Given the description of an element on the screen output the (x, y) to click on. 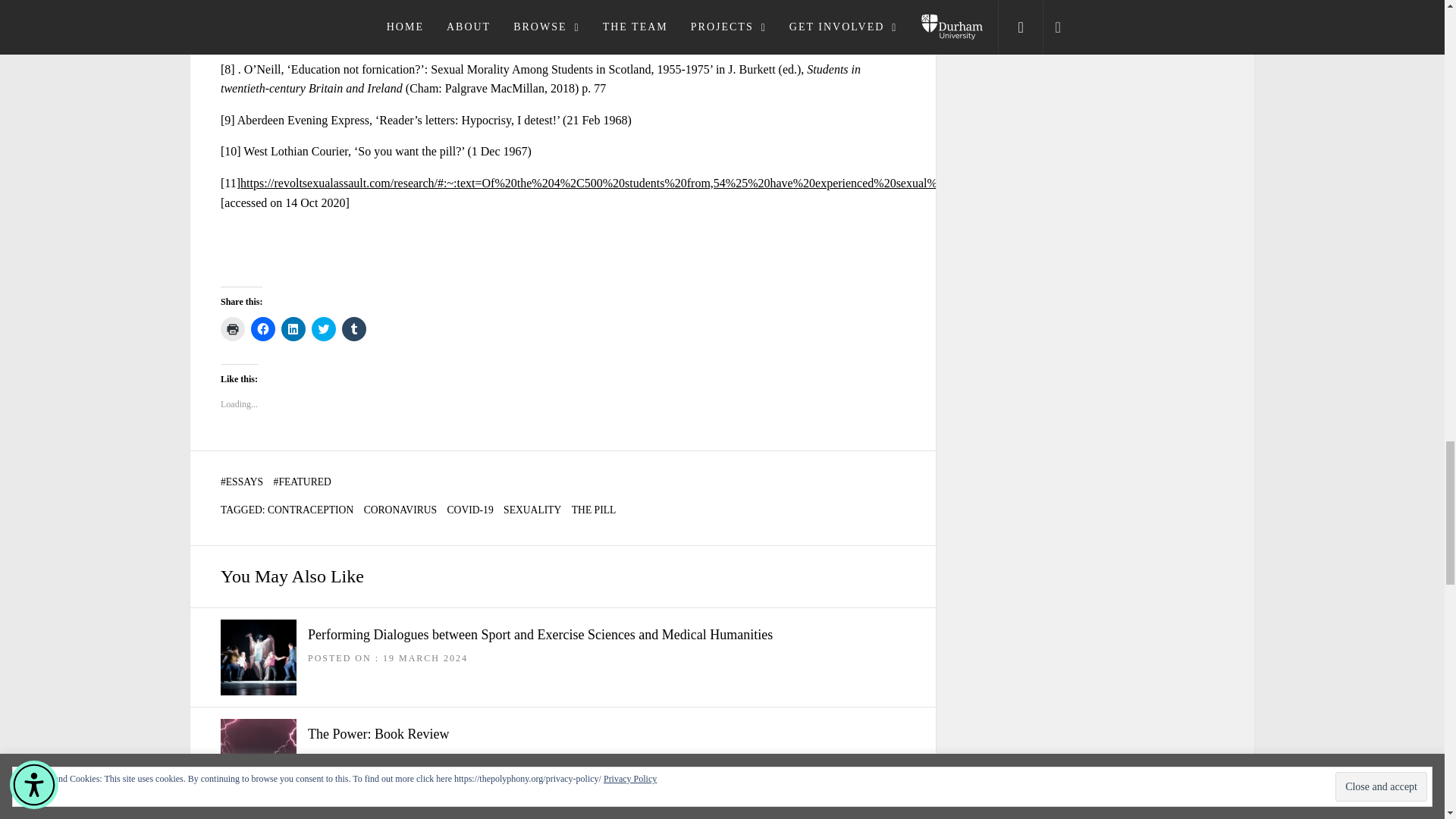
Click to share on Twitter (323, 328)
Click to print (232, 328)
Click to share on Facebook (262, 328)
Click to share on Tumblr (354, 328)
Click to share on LinkedIn (293, 328)
